Given the description of an element on the screen output the (x, y) to click on. 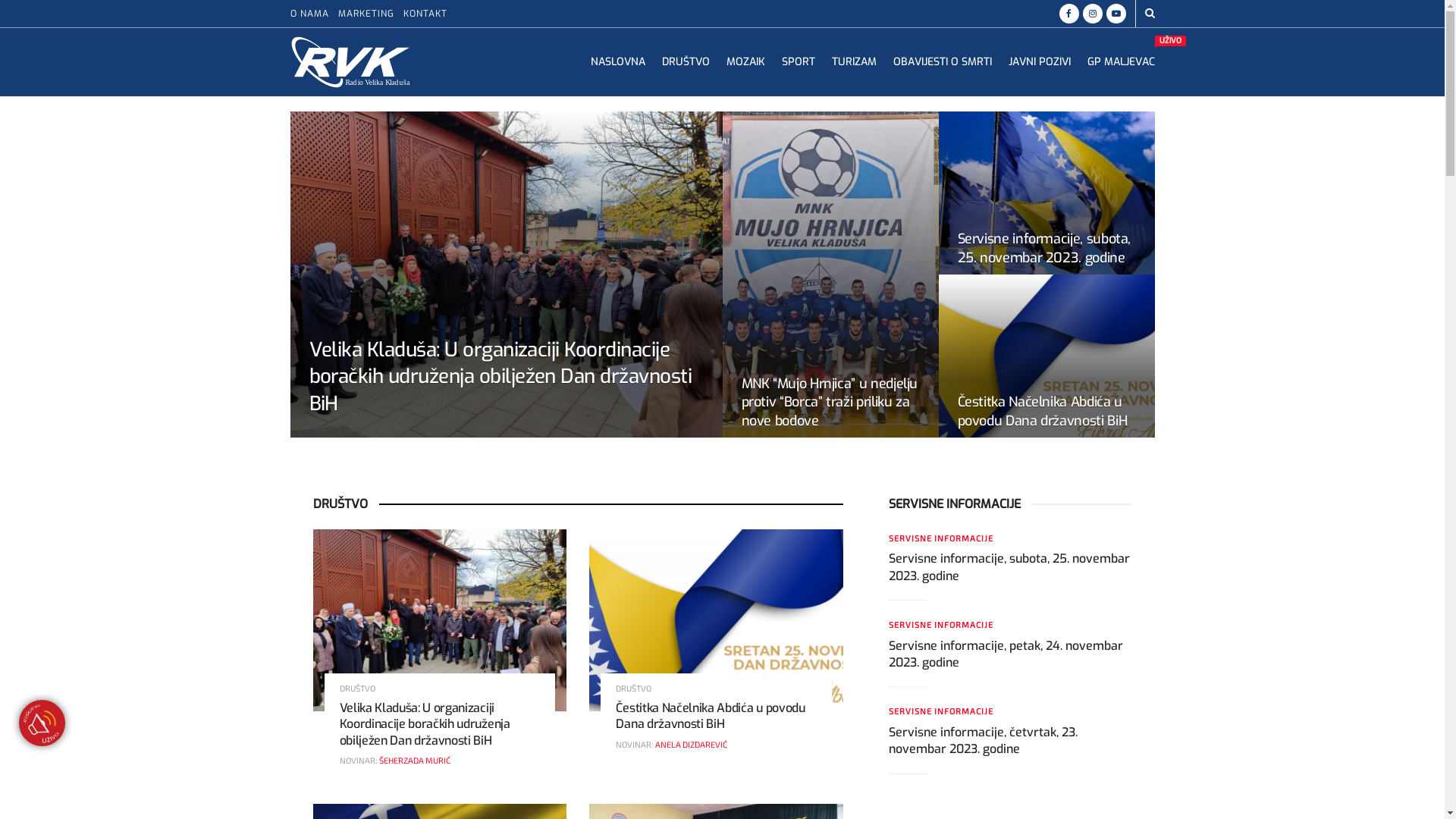
KONTAKT Element type: text (425, 13)
OBAVIJESTI O SMRTI Element type: text (942, 62)
Servisne informacije, subota, 25. novembar 2023. godine Element type: text (1043, 247)
SERVISNE INFORMACIJE Element type: text (940, 624)
SERVISNE INFORMACIJE Element type: text (940, 710)
TURIZAM Element type: text (853, 62)
SPORT Element type: text (797, 62)
Servisne informacije, petak, 24. novembar 2023. godine Element type: text (1005, 653)
JAVNI POZIVI Element type: text (1039, 62)
O NAMA Element type: text (308, 13)
MARKETING Element type: text (366, 13)
MOZAIK Element type: text (745, 62)
Servisne informacije, subota, 25. novembar 2023. godine Element type: text (1008, 566)
SERVISNE INFORMACIJE Element type: text (940, 538)
NASLOVNA Element type: text (616, 62)
